Given the description of an element on the screen output the (x, y) to click on. 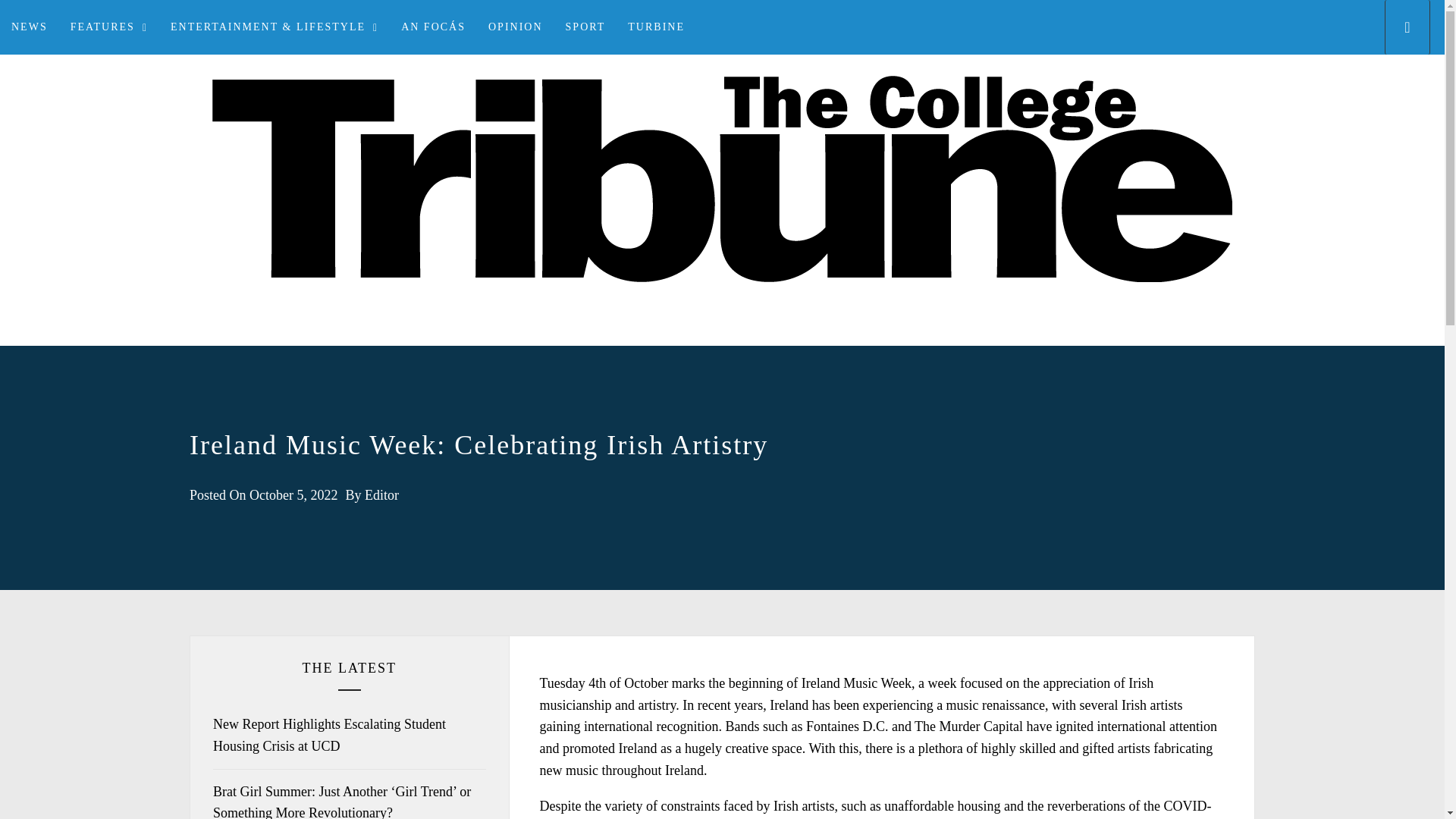
October 5, 2022 (292, 494)
NEWS (29, 27)
Ireland Music Week (856, 683)
COLLEGE TRIBUNE (721, 344)
FEATURES (108, 27)
Search (797, 407)
SPORT (585, 27)
TURBINE (655, 27)
OPINION (515, 27)
Editor (381, 494)
